Given the description of an element on the screen output the (x, y) to click on. 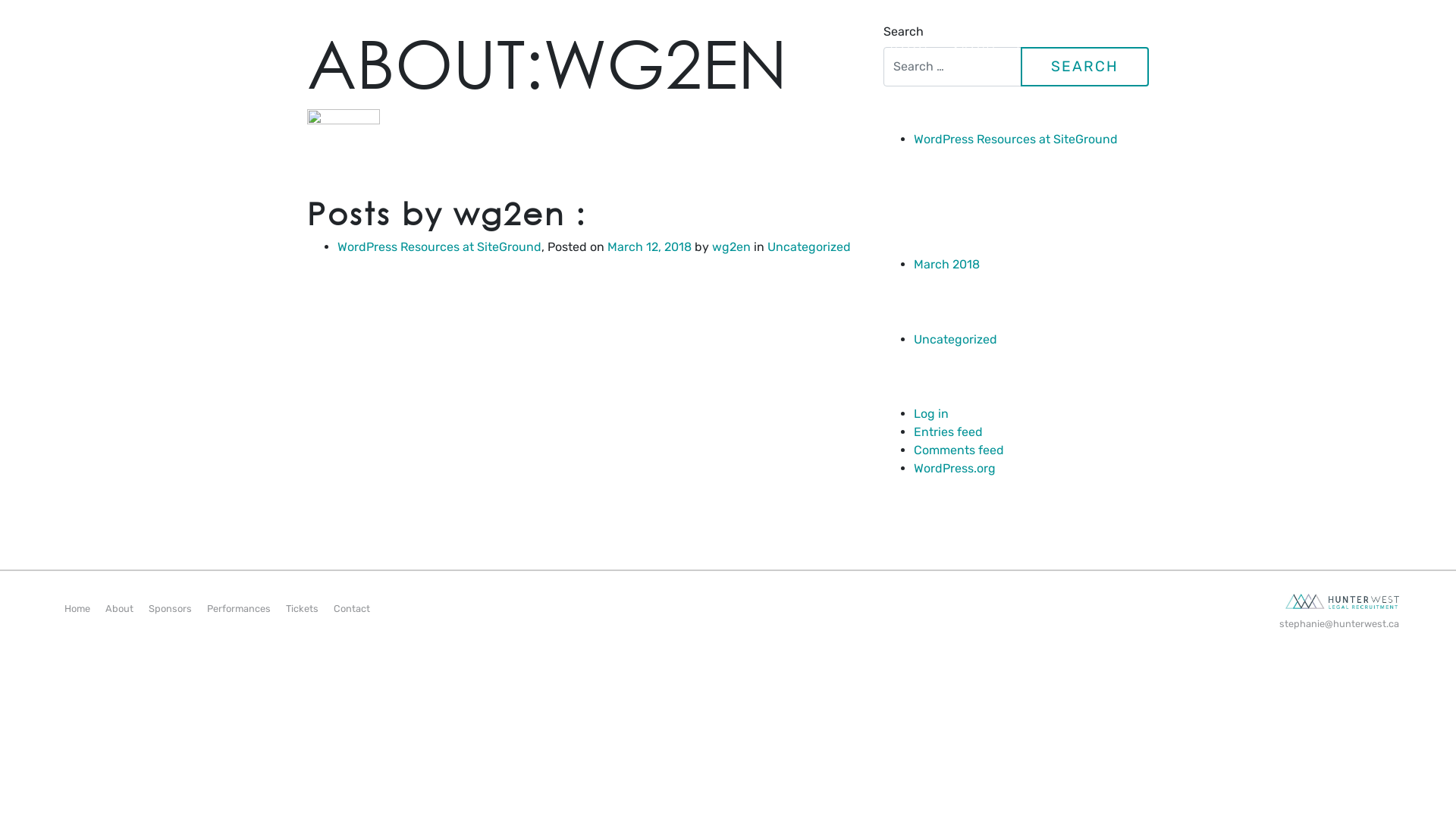
Uncategorized Element type: text (955, 339)
About Element type: text (119, 608)
SPONSORS Element type: text (1053, 49)
Tickets Element type: text (301, 608)
Comments feed Element type: text (958, 449)
WordPress.org Element type: text (954, 468)
HOME Element type: text (911, 49)
Uncategorized Element type: text (808, 246)
ABOUT Element type: text (974, 49)
Sponsors Element type: text (169, 608)
Search Element type: text (1084, 66)
March 2018 Element type: text (946, 264)
Home Element type: text (77, 608)
CONTACT Element type: text (1349, 49)
WordPress Resources at SiteGround Element type: text (1015, 138)
Log in Element type: text (930, 413)
WordPress Resources at SiteGround Element type: text (439, 246)
Entries feed Element type: text (947, 431)
Performances Element type: text (238, 608)
PERFORMANCES Element type: text (1166, 49)
Contact Element type: text (351, 608)
stephanie@hunterwest.ca Element type: text (1182, 622)
March 12, 2018 Element type: text (649, 246)
TICKETS Element type: text (1269, 49)
wg2en Element type: text (731, 246)
